Given the description of an element on the screen output the (x, y) to click on. 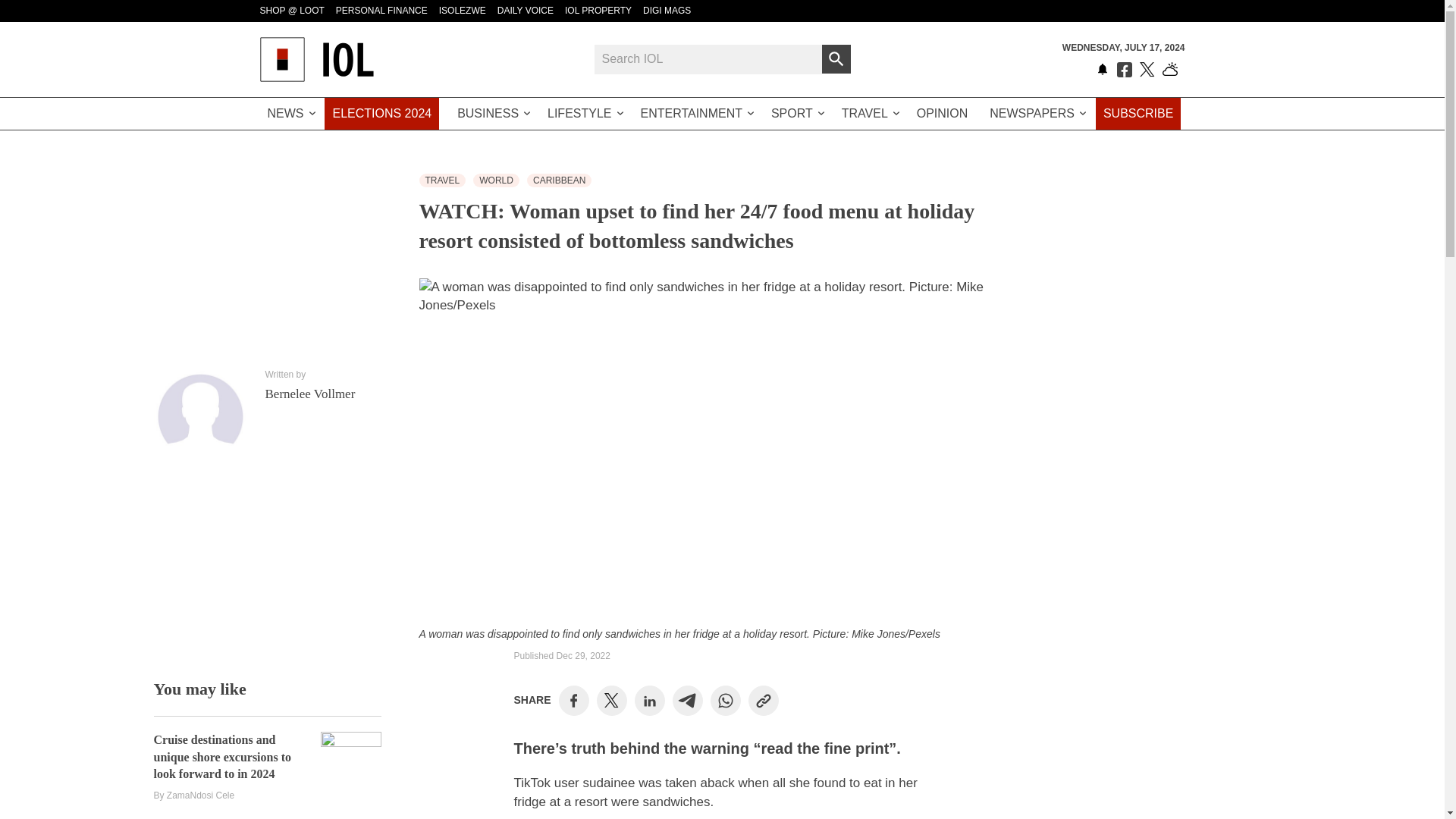
Follow us on Twitter (1147, 69)
Share on WhatsApp (725, 700)
Share on LinkedIn (648, 700)
Copy to Clipboard (763, 700)
Like us on Facebook (1124, 69)
Share on Twitter (611, 700)
Share on Facebook (573, 700)
Share on Telegram (686, 700)
